Given the description of an element on the screen output the (x, y) to click on. 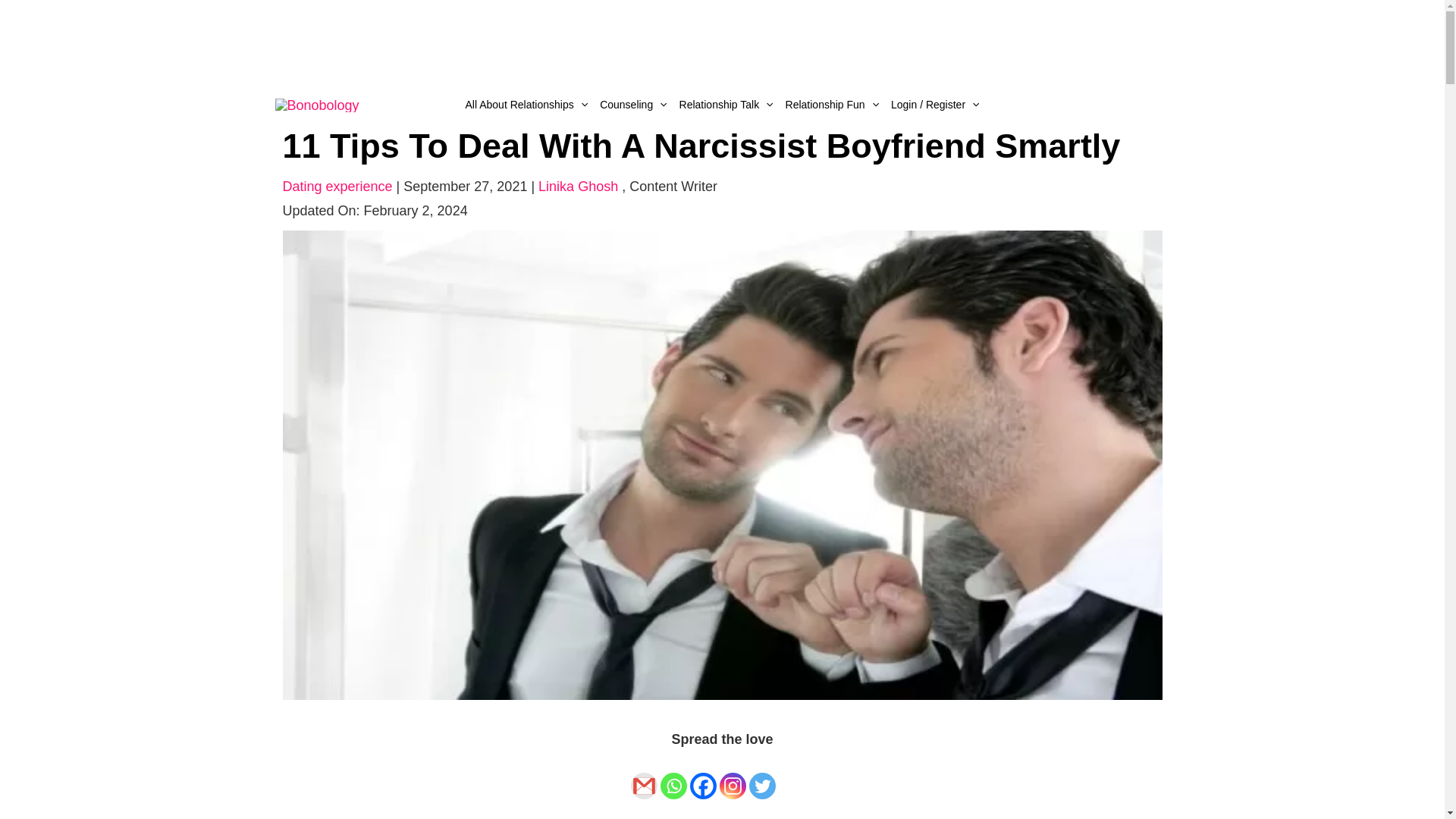
handsome-narcissistic-young-man-looking-mirror (721, 463)
cropped-cropped-Bonobology-2.png (316, 103)
All About Relationships (527, 104)
Editor Info (672, 186)
